Given the description of an element on the screen output the (x, y) to click on. 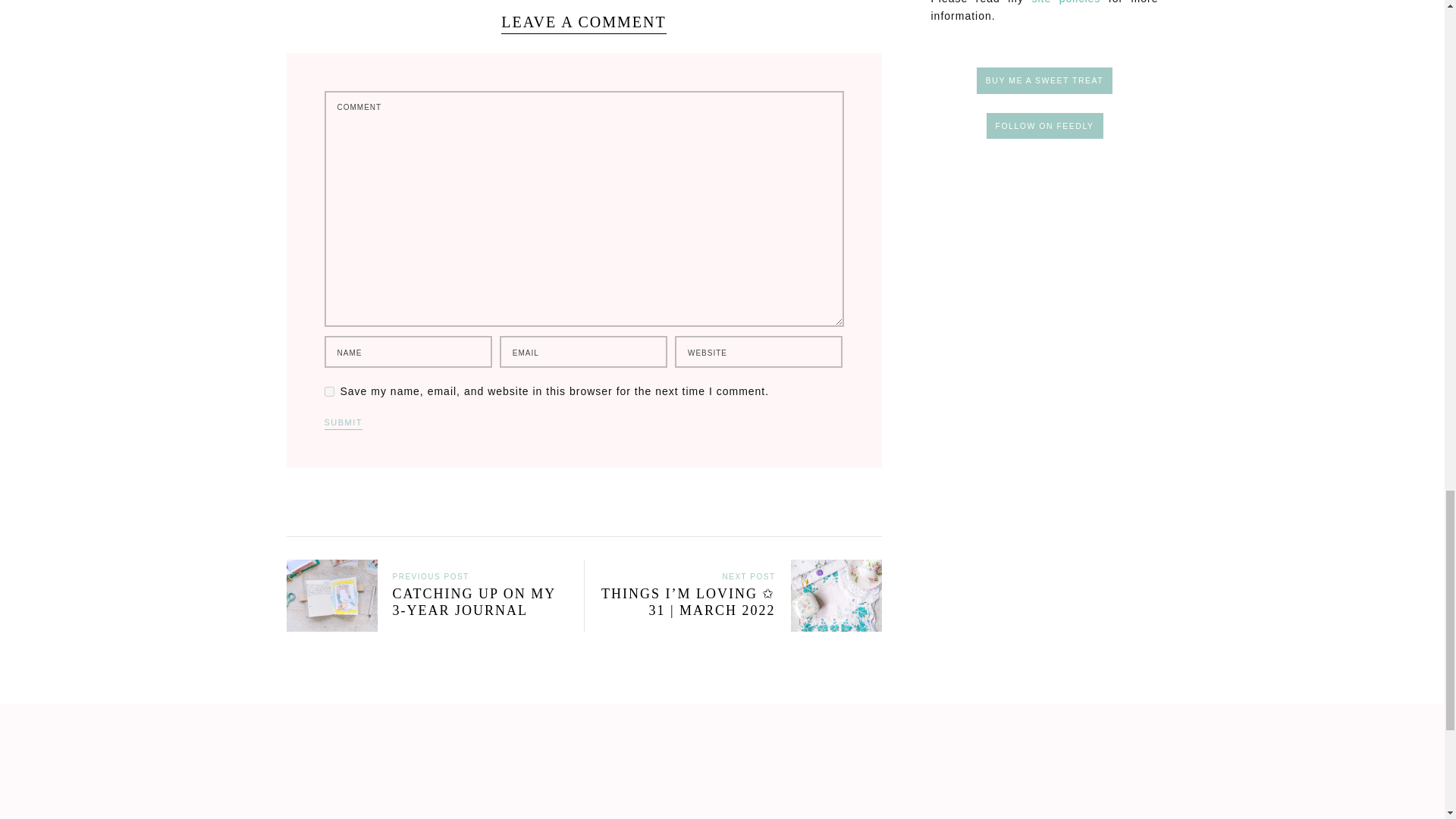
Submit (343, 423)
Submit (343, 423)
NEXT POST (748, 575)
terms of use (1065, 2)
yes (329, 391)
CATCHING UP ON MY 3-YEAR JOURNAL (427, 610)
PREVIOUS POST (430, 575)
